Given the description of an element on the screen output the (x, y) to click on. 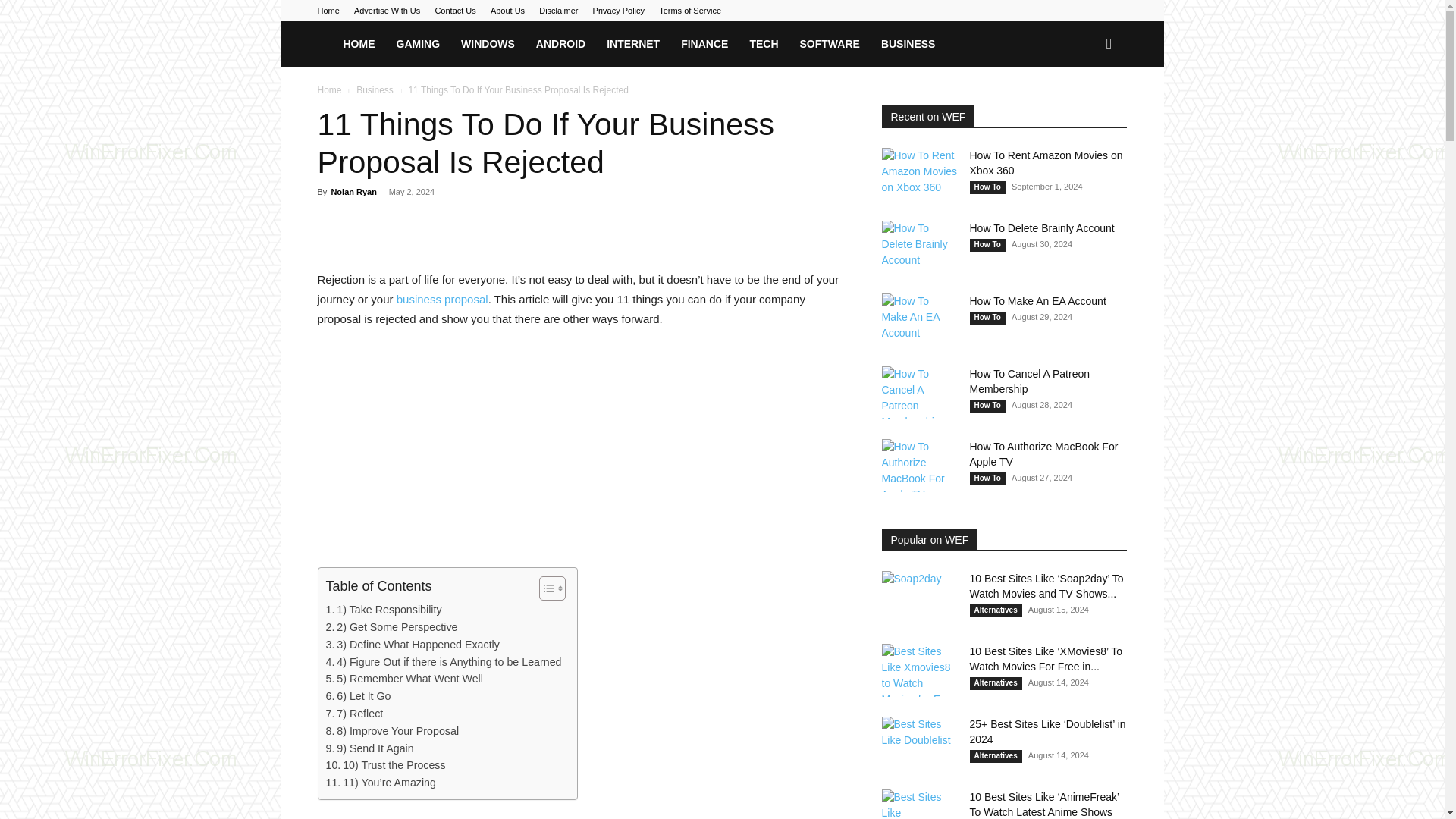
Home (328, 10)
Advertise With Us (386, 10)
WinErrorFixer.Com (324, 43)
Business (374, 90)
ANDROID (560, 43)
Search (1085, 109)
BUSINESS (908, 43)
INTERNET (632, 43)
SOFTWARE (829, 43)
FINANCE (703, 43)
